Given the description of an element on the screen output the (x, y) to click on. 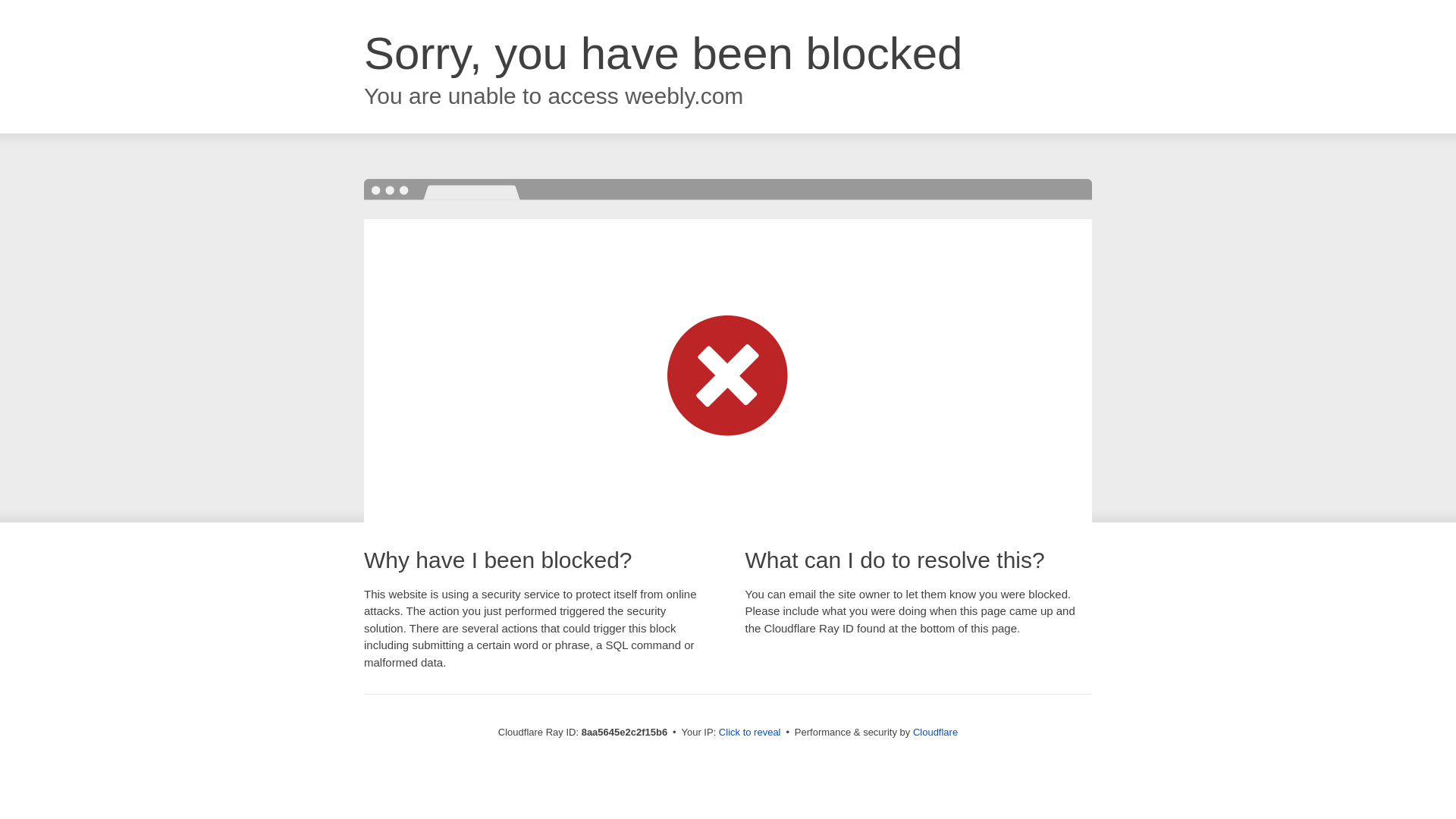
Cloudflare (935, 731)
Click to reveal (749, 732)
